Given the description of an element on the screen output the (x, y) to click on. 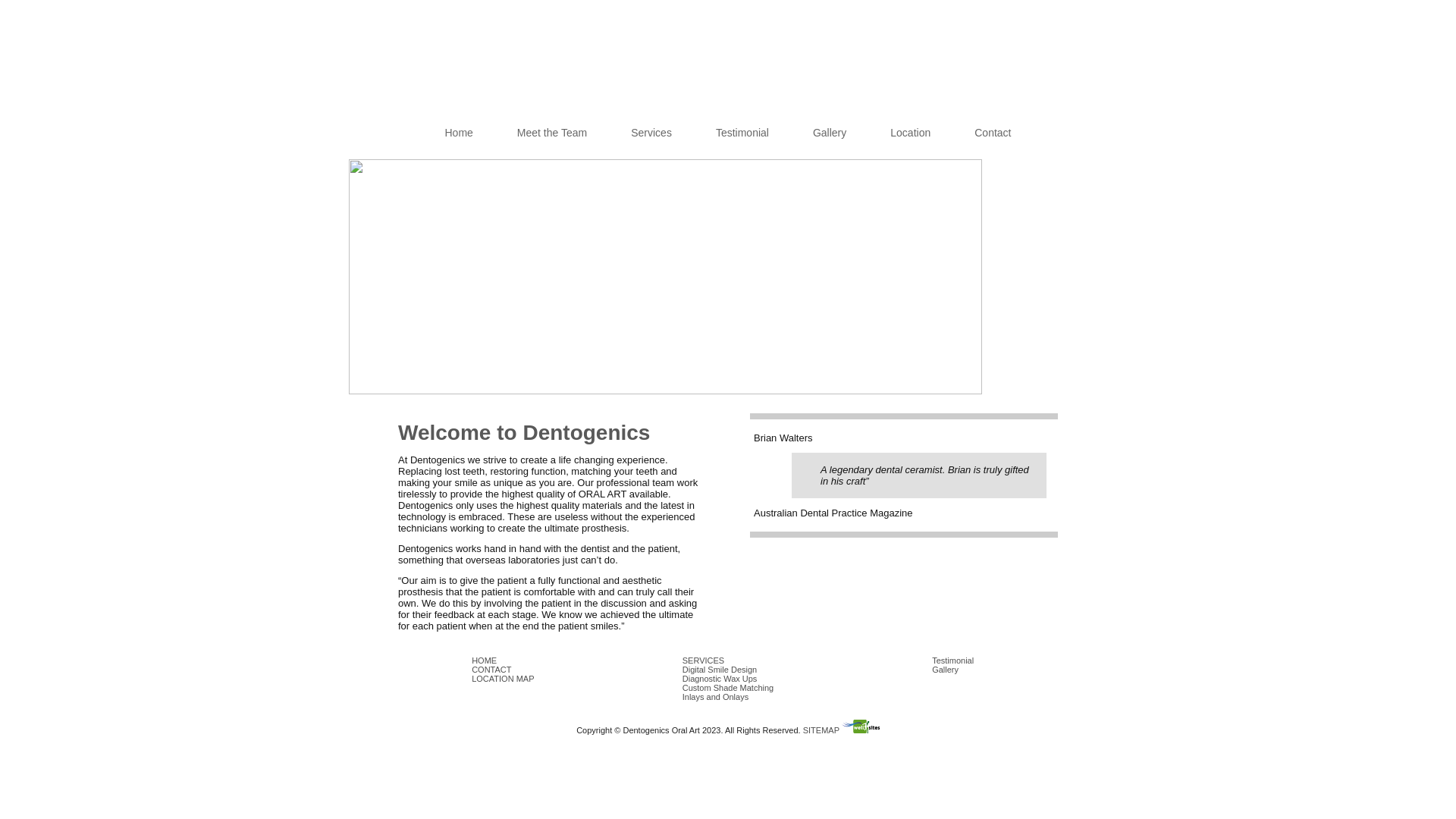
Home Element type: text (458, 132)
WellsitesFooterLogo Element type: hover (860, 726)
Testimonial Element type: text (742, 132)
Inlays and Onlays Element type: text (715, 696)
Meet the Team Element type: text (551, 132)
SERVICES Element type: text (703, 660)
LOCATION MAP Element type: text (502, 678)
Gallery Element type: text (829, 132)
Location Element type: text (910, 132)
CONTACT Element type: text (491, 669)
Digital Smile Design Element type: text (719, 669)
Gallery Element type: text (944, 669)
Diagnostic Wax Ups Element type: text (719, 678)
Contact Element type: text (992, 132)
Testimonial Element type: text (952, 660)
Services Element type: text (651, 132)
HOME Element type: text (483, 660)
SITEMAP Element type: text (821, 729)
Custom Shade Matching Element type: text (727, 687)
